Given the description of an element on the screen output the (x, y) to click on. 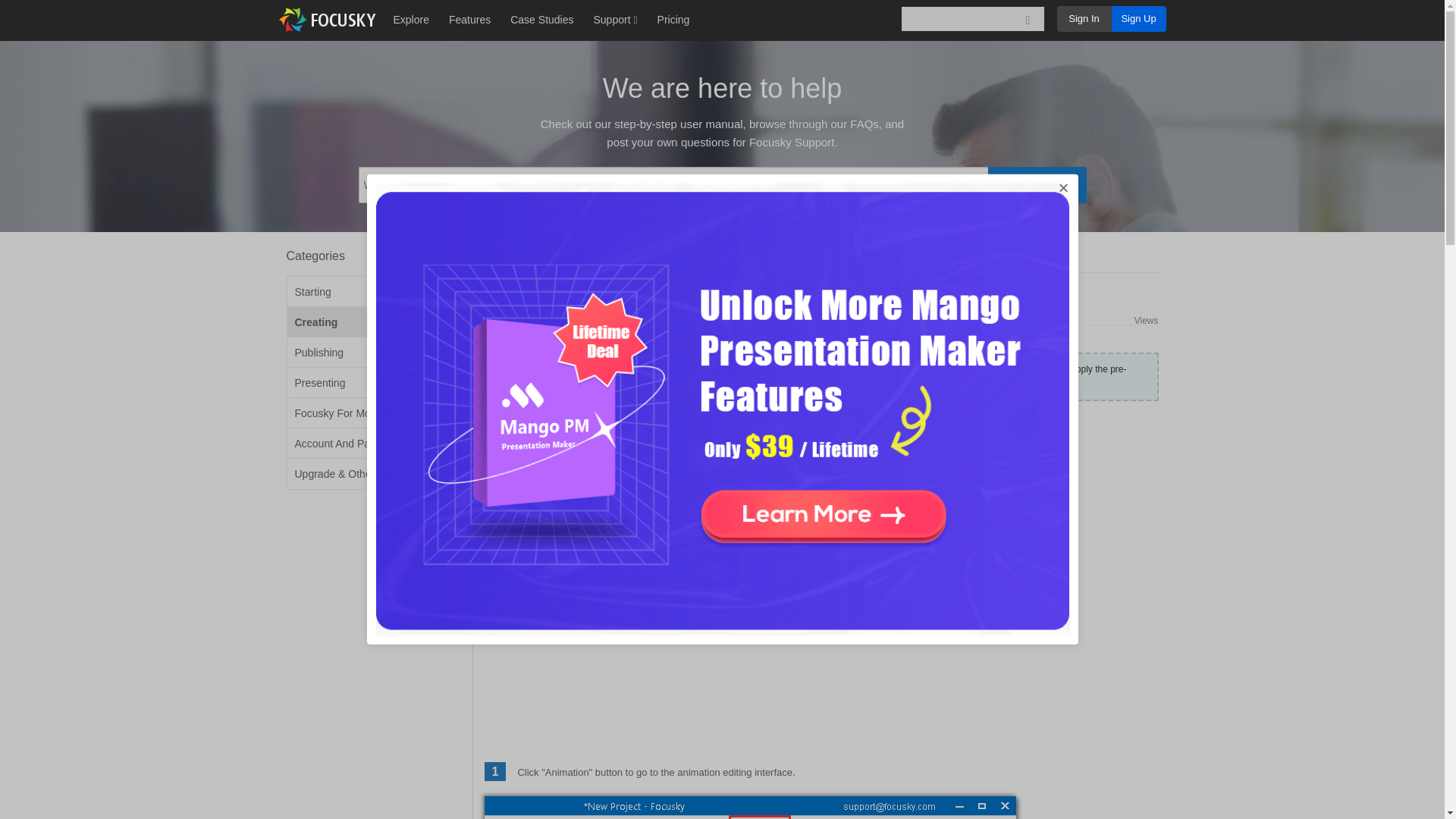
SEARCH (1036, 185)
Explore (410, 19)
Pricing (673, 19)
Support (615, 19)
Features (469, 19)
Creating (595, 256)
Sign In (1084, 18)
Animation (650, 256)
Knowledge Base (523, 256)
Case Studies (541, 19)
Sign Up (1139, 18)
